Given the description of an element on the screen output the (x, y) to click on. 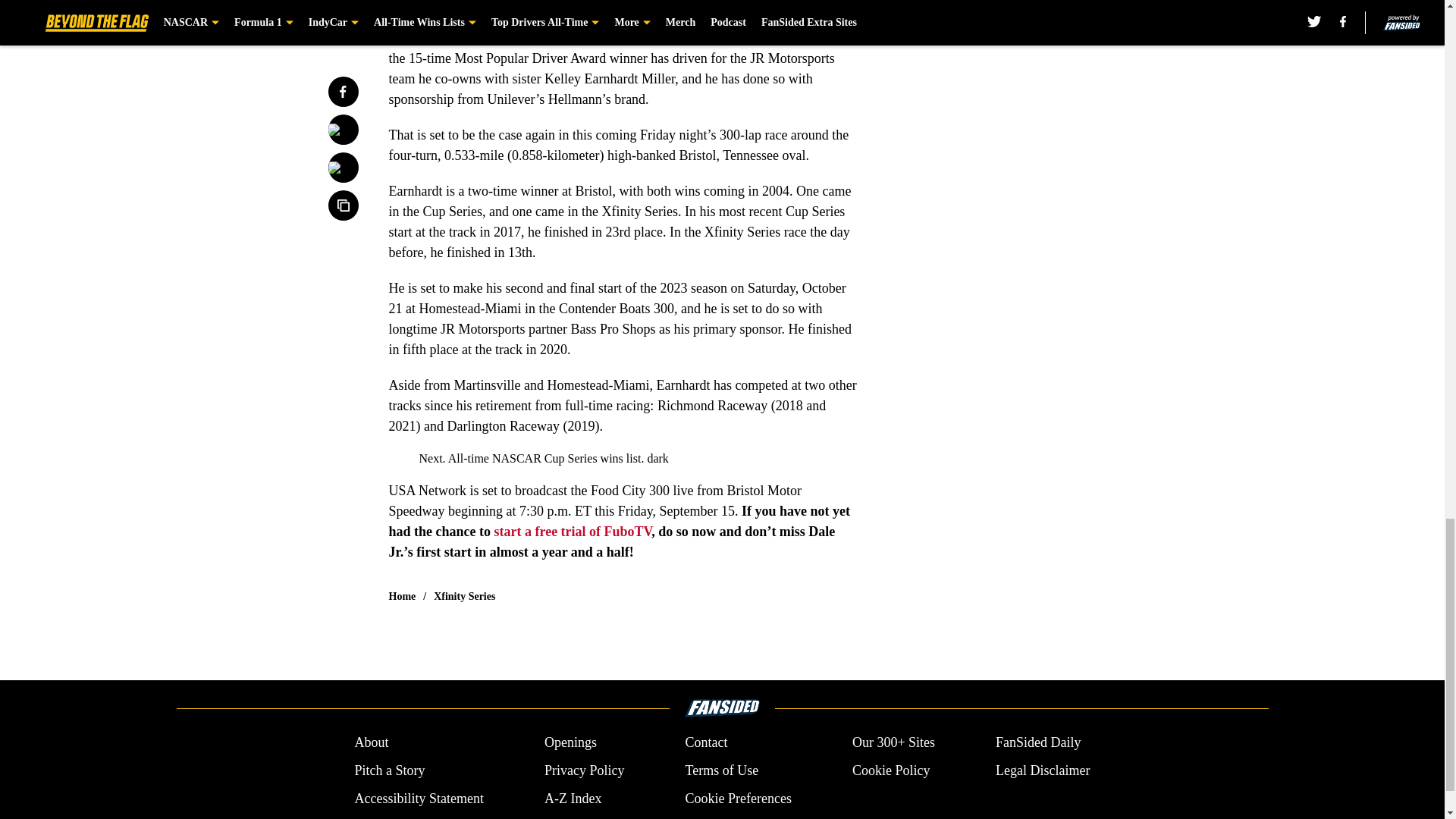
Xfinity Series (464, 596)
Home (401, 596)
start a free trial of FuboTV (573, 531)
